Given the description of an element on the screen output the (x, y) to click on. 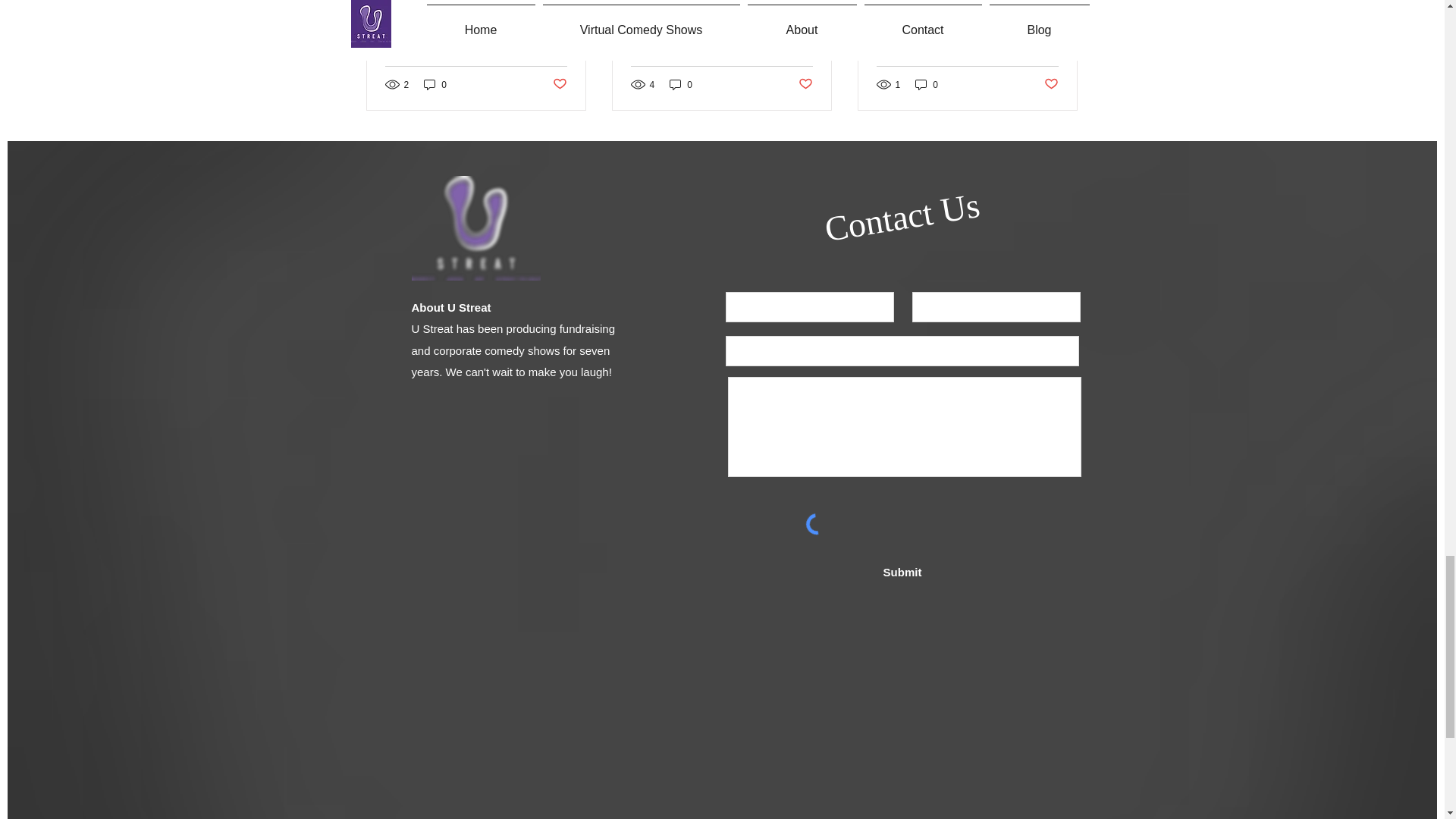
Post not marked as liked (1050, 84)
Submit (901, 572)
0 (926, 83)
0 (435, 83)
0 (681, 83)
Post not marked as liked (804, 84)
Post not marked as liked (558, 84)
